Given the description of an element on the screen output the (x, y) to click on. 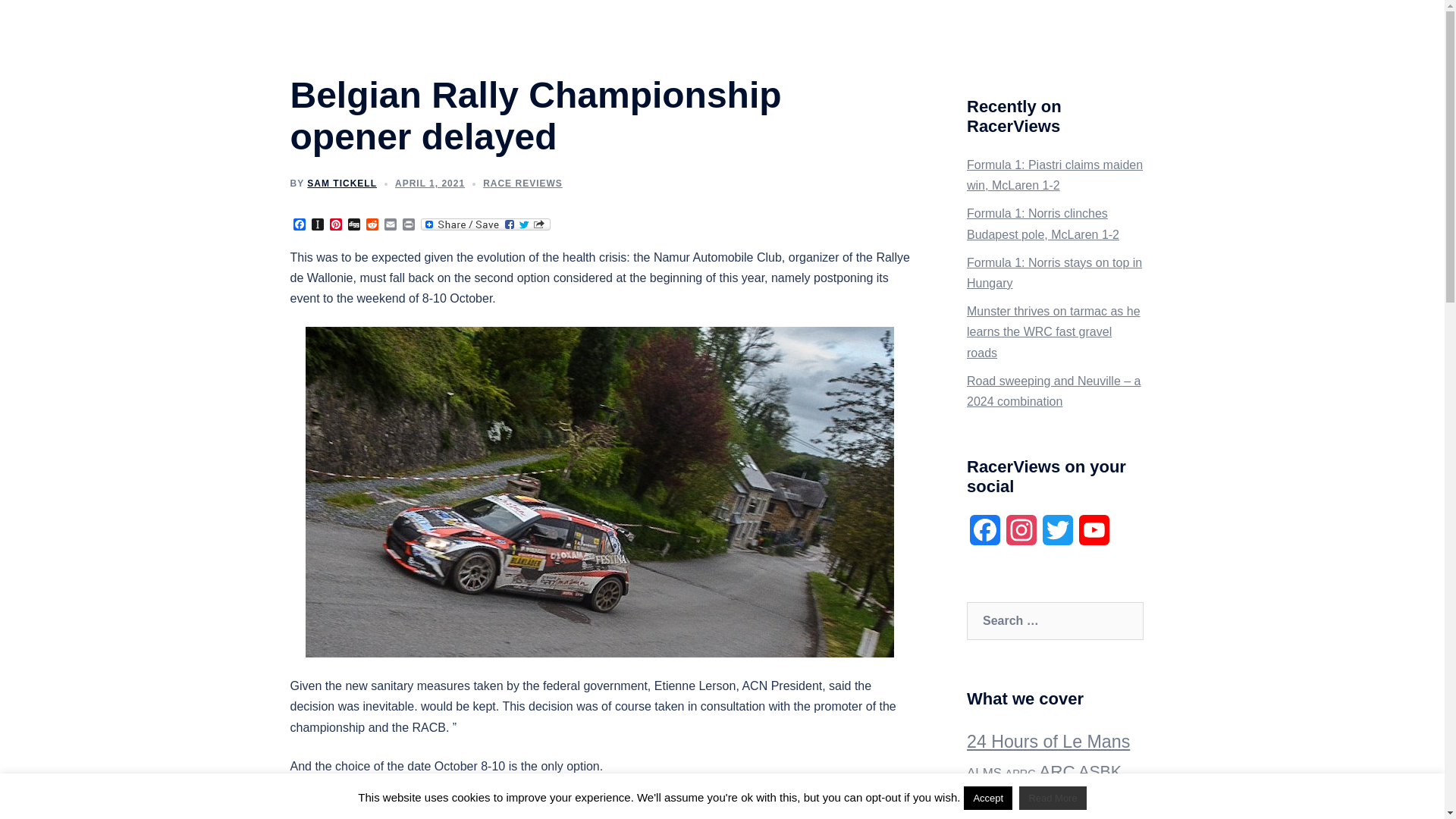
Email (389, 225)
Print (407, 225)
Instapaper (316, 225)
Twitter (1057, 535)
Media (836, 29)
Facebook (298, 225)
Interviews (778, 29)
RacerViews (357, 29)
YouTube (1093, 535)
Digg (352, 225)
Reddit (371, 225)
Facebook (984, 535)
Pinterest (334, 225)
Instagram (1021, 535)
